Given the description of an element on the screen output the (x, y) to click on. 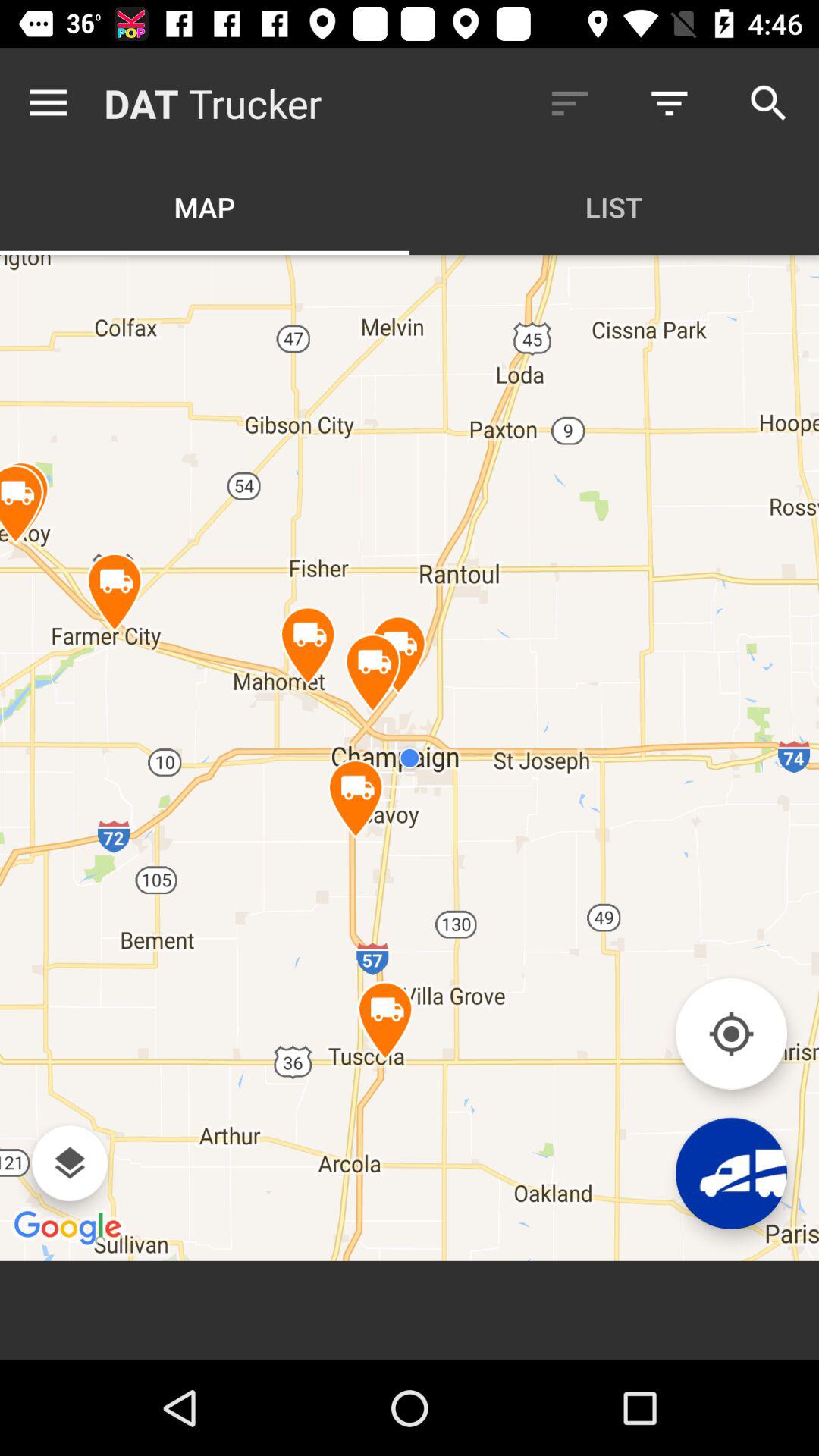
choose icon next to the trucker (569, 103)
